Given the description of an element on the screen output the (x, y) to click on. 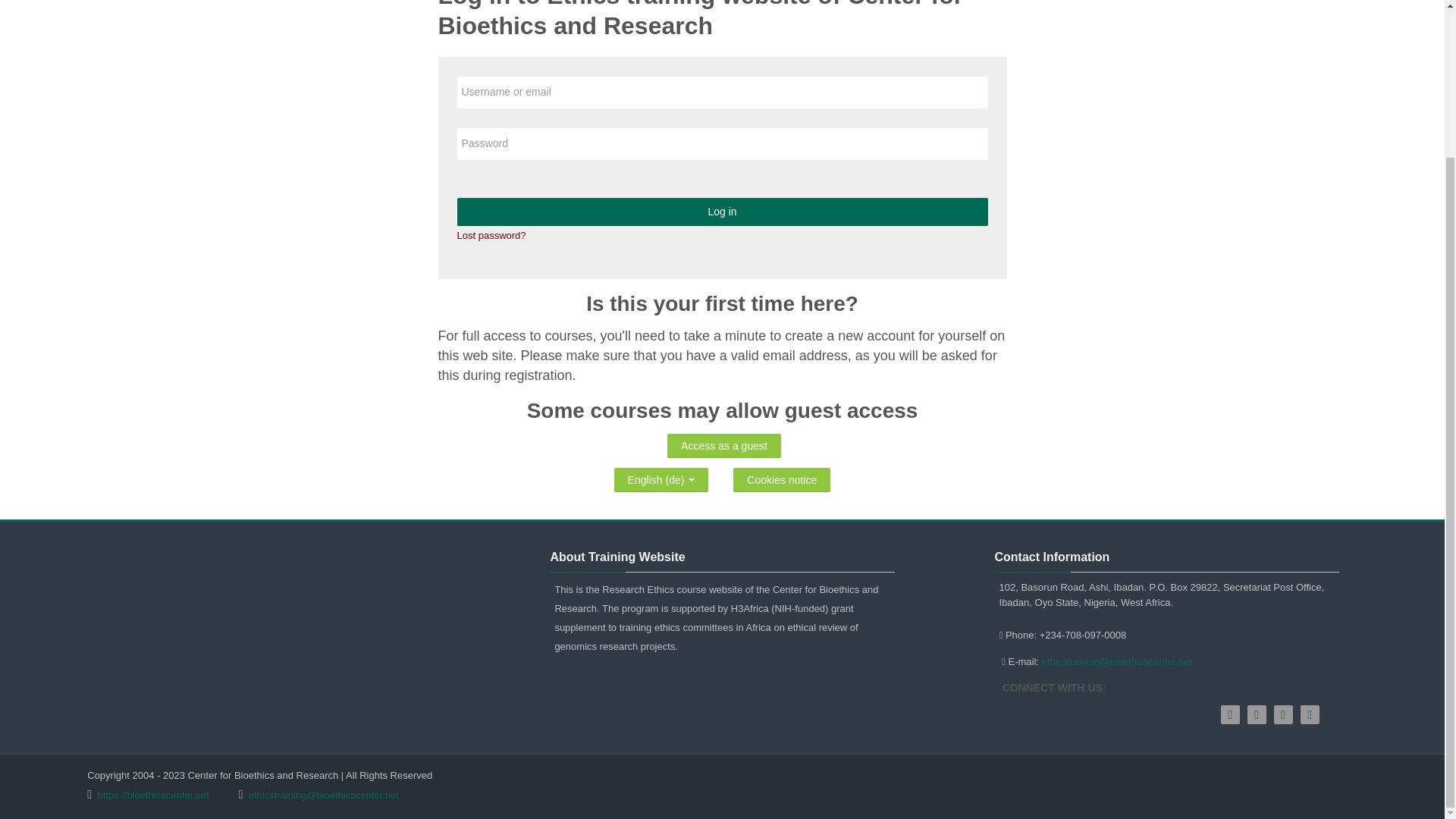
Lost password? (491, 235)
Access as a guest (723, 445)
Log in (722, 212)
